Given the description of an element on the screen output the (x, y) to click on. 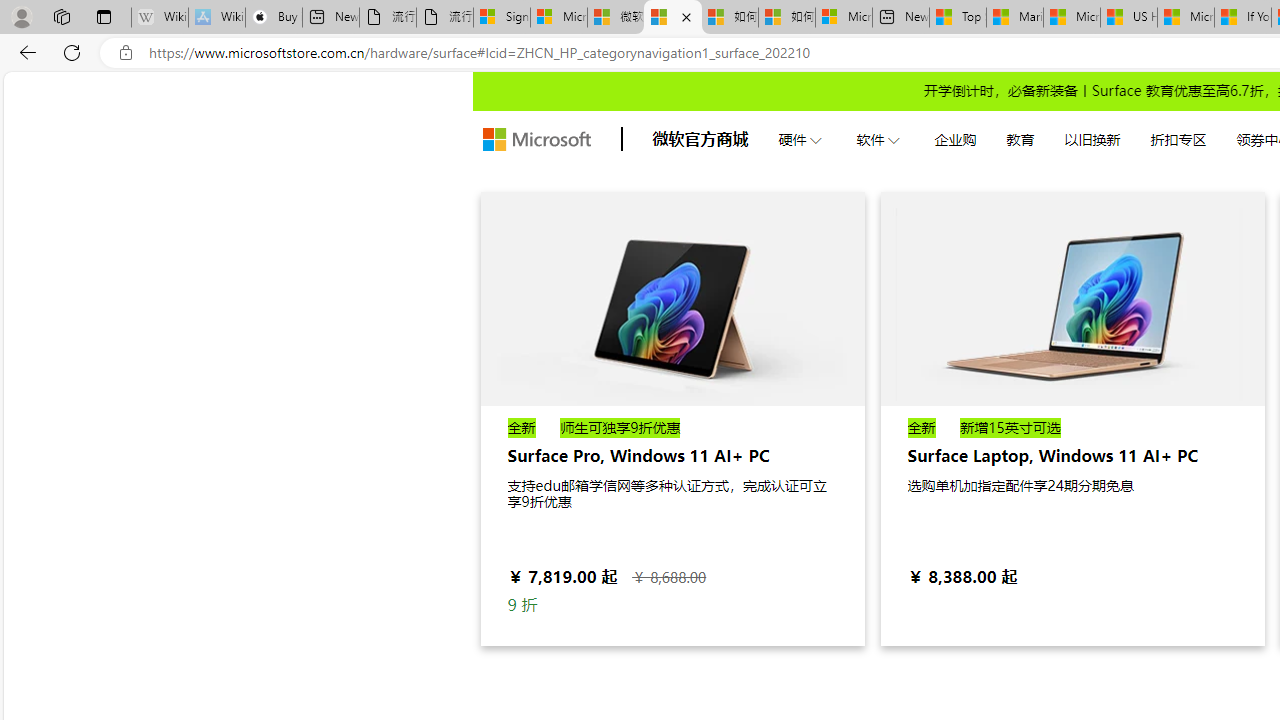
Buy iPad - Apple (273, 17)
New tab (901, 17)
Close tab (686, 16)
Back (24, 52)
Surface Laptop, Windows 11 AI+ PC (1072, 298)
Wikipedia - Sleeping (159, 17)
View site information (125, 53)
Top Stories - MSN (957, 17)
Refresh (72, 52)
